Given the description of an element on the screen output the (x, y) to click on. 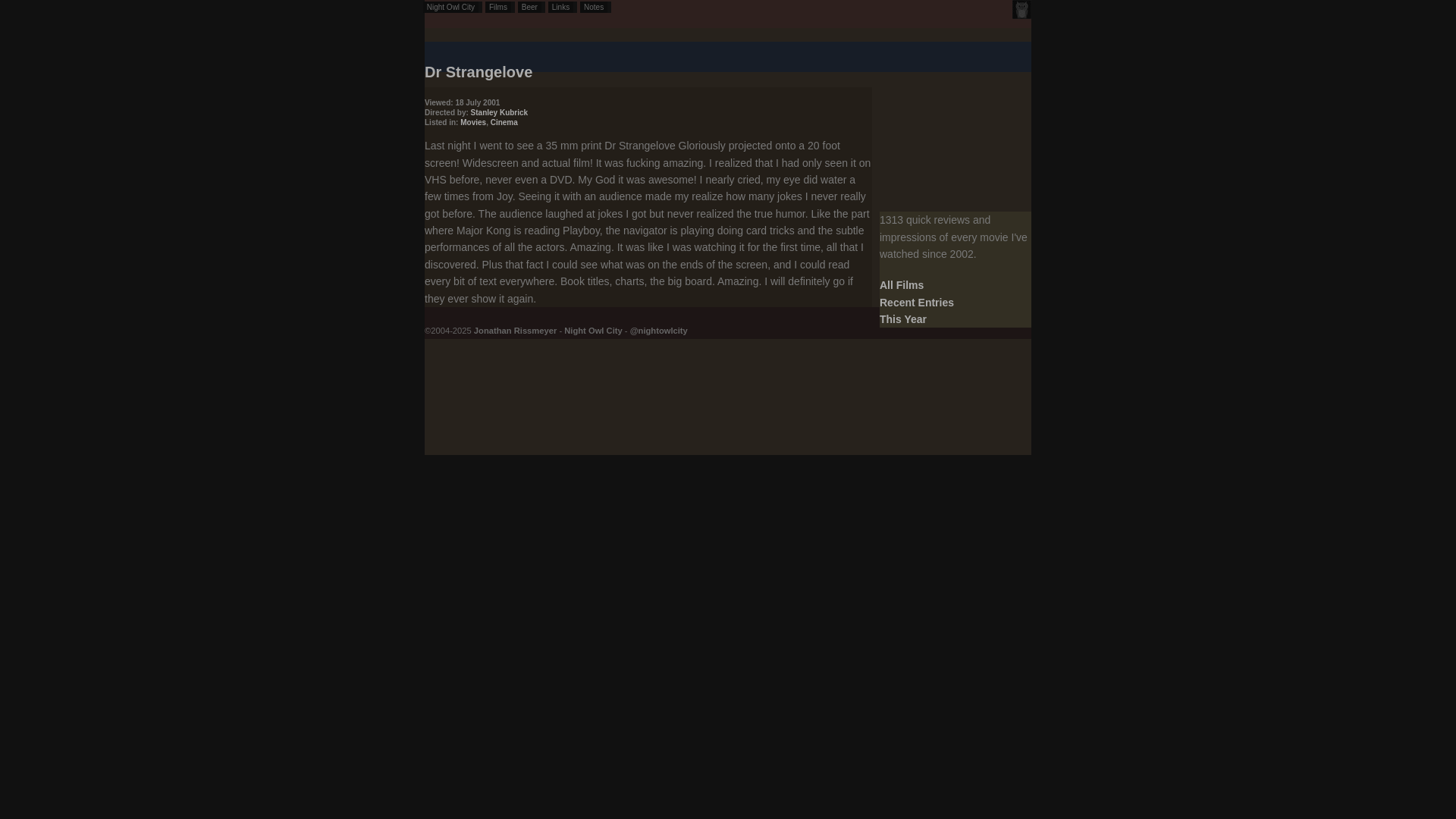
All Films (901, 285)
Recent Entries (916, 302)
Night Owl (1020, 9)
Jonathan Rissmeyer (515, 329)
Cinema (504, 121)
Links (562, 7)
This Year (902, 318)
Notes (595, 7)
Dr Strangelove (478, 71)
Stanley Kubrick (499, 112)
Night Owl City (452, 7)
Night Owl City (592, 329)
Films (499, 7)
Movies (473, 121)
Beer (531, 7)
